Given the description of an element on the screen output the (x, y) to click on. 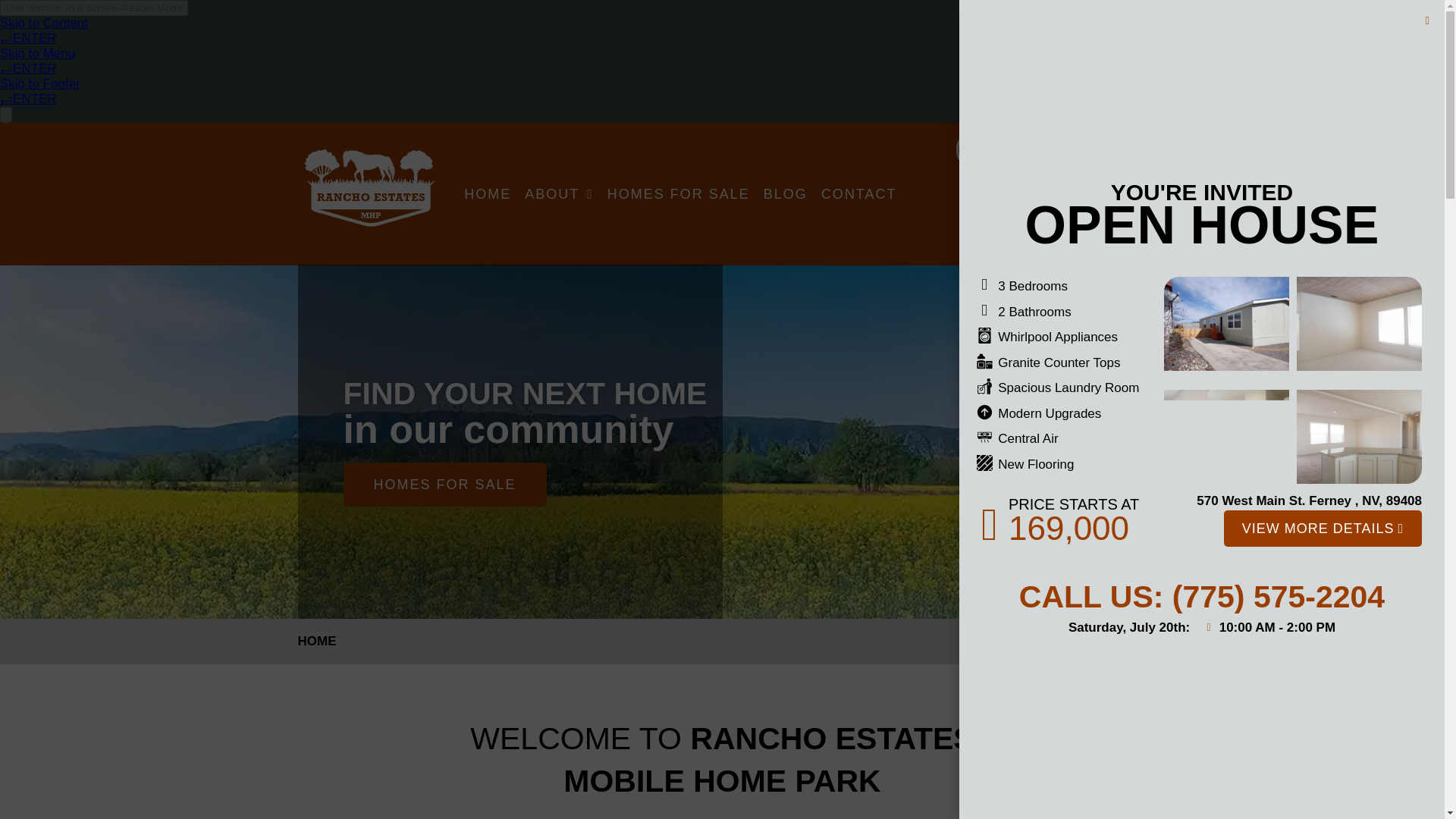
CONTACT (858, 194)
BLOG (785, 194)
Mobile Homes for Sale in Fernley, NV (678, 194)
HOMES FOR SALE (318, 484)
Rancho Estates Mobile Home Park (487, 194)
HOMES FOR SALE (678, 194)
HOME (487, 194)
Contact Rancho Estates Mobile Home Park (858, 194)
Rancho Estates Mobile Home Park Blog (785, 194)
Rancho Estates Mobile Home Park (367, 188)
Storz Management Community (1073, 191)
ABOUT (558, 194)
